Given the description of an element on the screen output the (x, y) to click on. 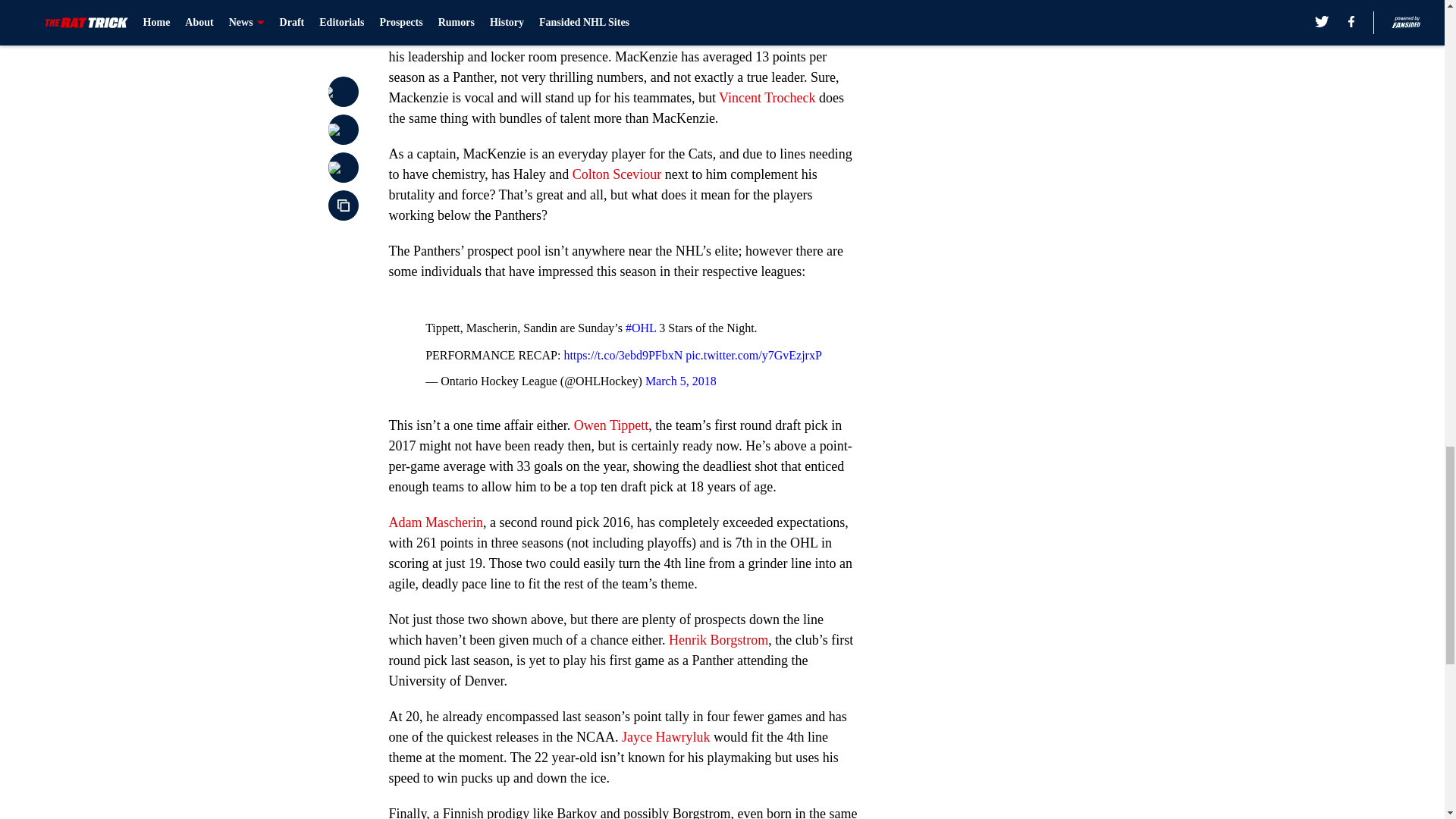
Owen Tippett (611, 425)
Colton Sceviour (617, 174)
Derek MacKenzie (731, 4)
Vincent Trocheck (767, 97)
March 5, 2018 (680, 380)
